Given the description of an element on the screen output the (x, y) to click on. 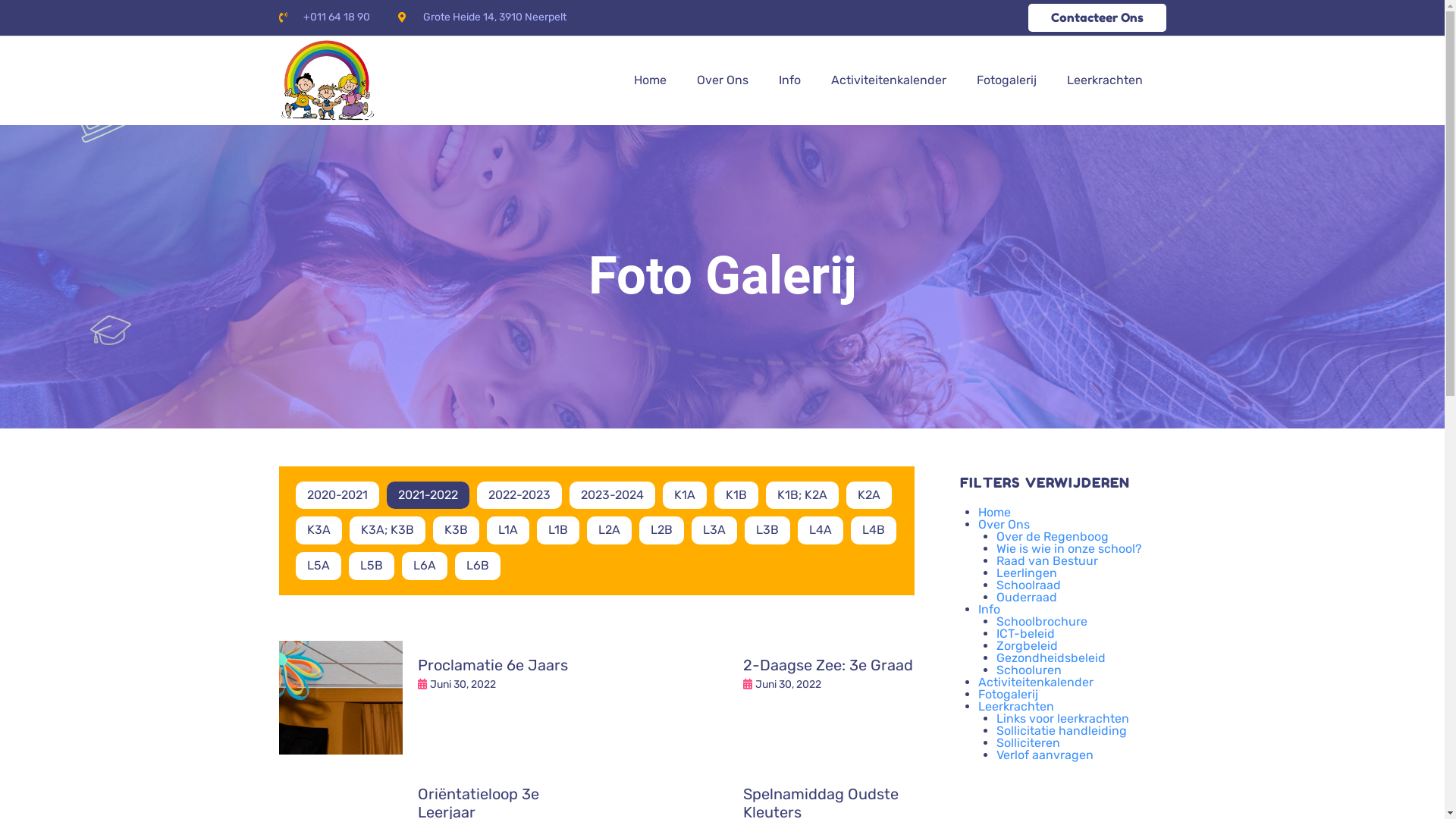
Leerkrachten Element type: text (1104, 80)
Gezondheidsbeleid Element type: text (1050, 657)
+011 64 18 90 Element type: text (324, 17)
Activiteitenkalender Element type: text (888, 80)
Over de Regenboog Element type: text (1052, 536)
Info Element type: text (989, 609)
Fotogalerij Element type: text (1006, 80)
Juni 30, 2022 Element type: text (788, 684)
Raad van Bestuur Element type: text (1047, 560)
Sollicitatie handleiding Element type: text (1061, 730)
Schoolbrochure Element type: text (1041, 621)
Solliciteren Element type: text (1028, 742)
Activiteitenkalender Element type: text (1035, 681)
FILTERS VERWIJDEREN Element type: text (1044, 482)
Info Element type: text (789, 80)
Leerkrachten Element type: text (1016, 706)
Schooluren Element type: text (1028, 669)
Over Ons Element type: text (722, 80)
Home Element type: text (994, 512)
Home Element type: text (649, 80)
Juni 30, 2022 Element type: text (462, 684)
Wie is wie in onze school? Element type: text (1069, 548)
Links voor leerkrachten Element type: text (1062, 718)
Ouderraad Element type: text (1026, 596)
Leerlingen Element type: text (1026, 572)
Schoolraad Element type: text (1028, 584)
Contacteer Ons Element type: text (1097, 17)
Over Ons Element type: text (1003, 524)
Zorgbeleid Element type: text (1026, 645)
ICT-beleid Element type: text (1025, 633)
Verlof aanvragen Element type: text (1044, 754)
Fotogalerij Element type: text (1008, 694)
